Given the description of an element on the screen output the (x, y) to click on. 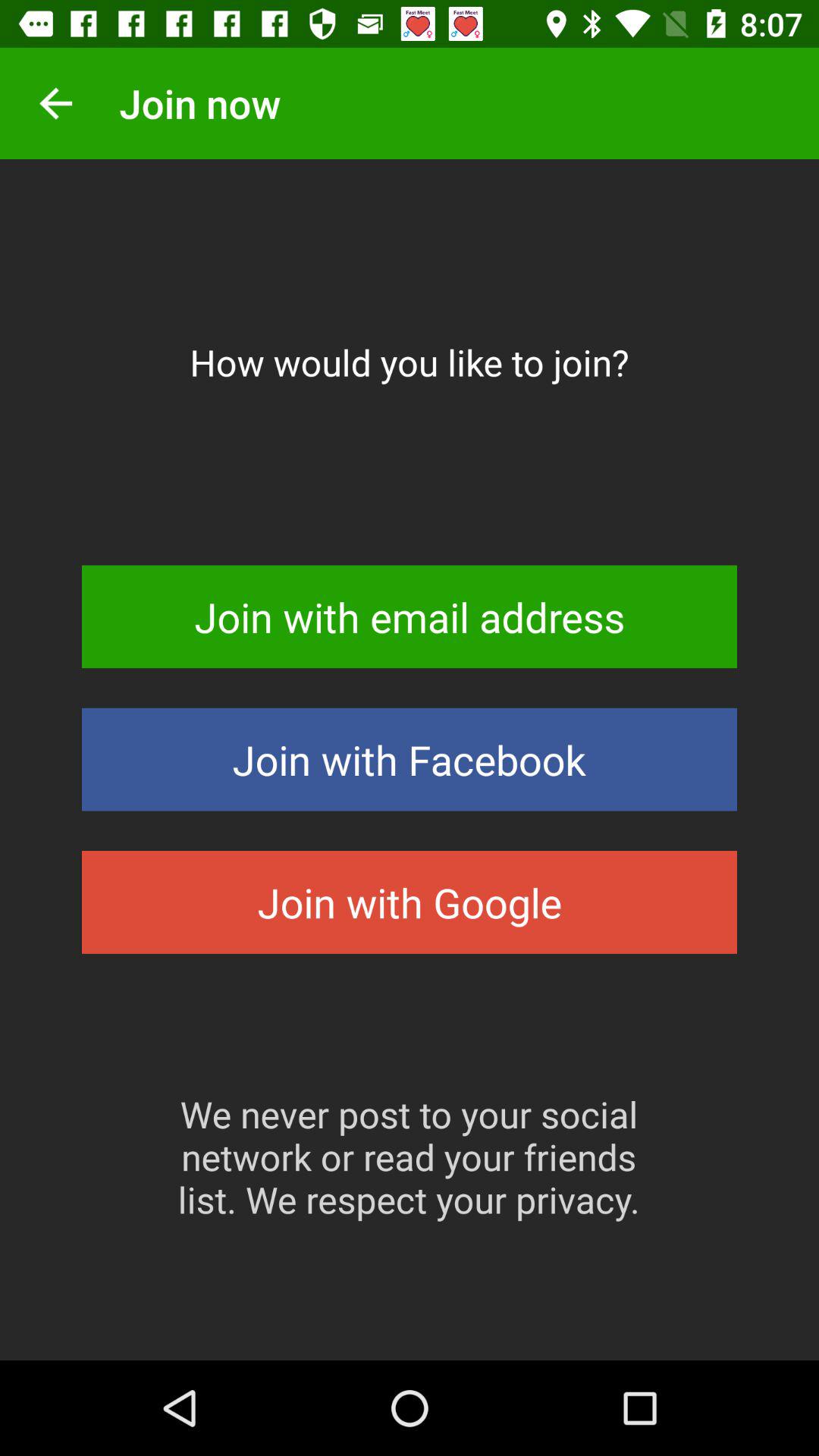
click item to the left of join now icon (55, 103)
